Given the description of an element on the screen output the (x, y) to click on. 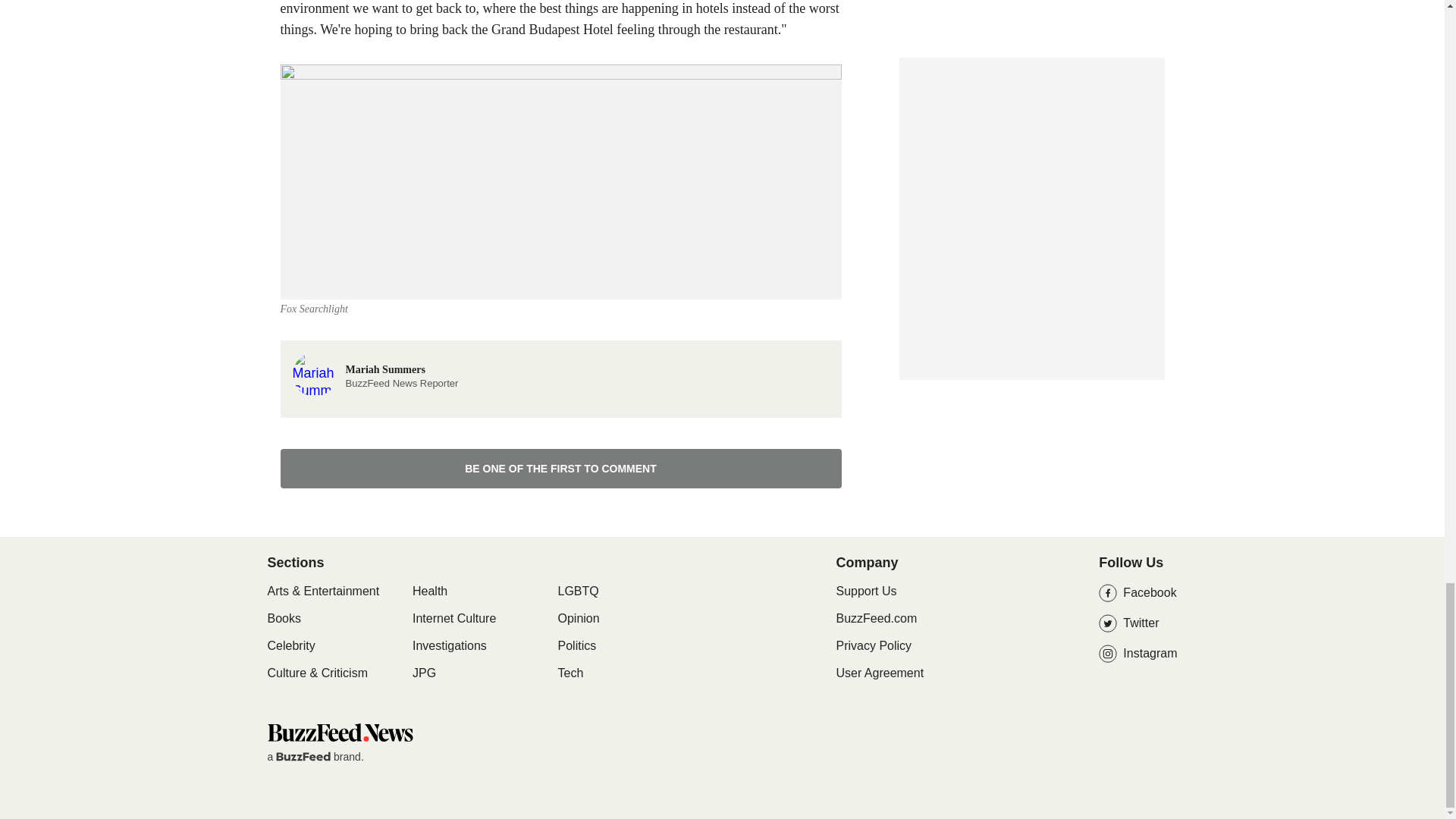
Investigations (449, 645)
BuzzFeed (303, 756)
LGBTQ (577, 590)
Privacy Policy (873, 645)
Health (375, 372)
Politics (429, 590)
JPG (576, 645)
Books (423, 672)
BE ONE OF THE FIRST TO COMMENT (282, 618)
Tech (561, 468)
Opinion (570, 672)
Celebrity (578, 618)
Support Us (290, 645)
BuzzFeed.com (865, 590)
